Given the description of an element on the screen output the (x, y) to click on. 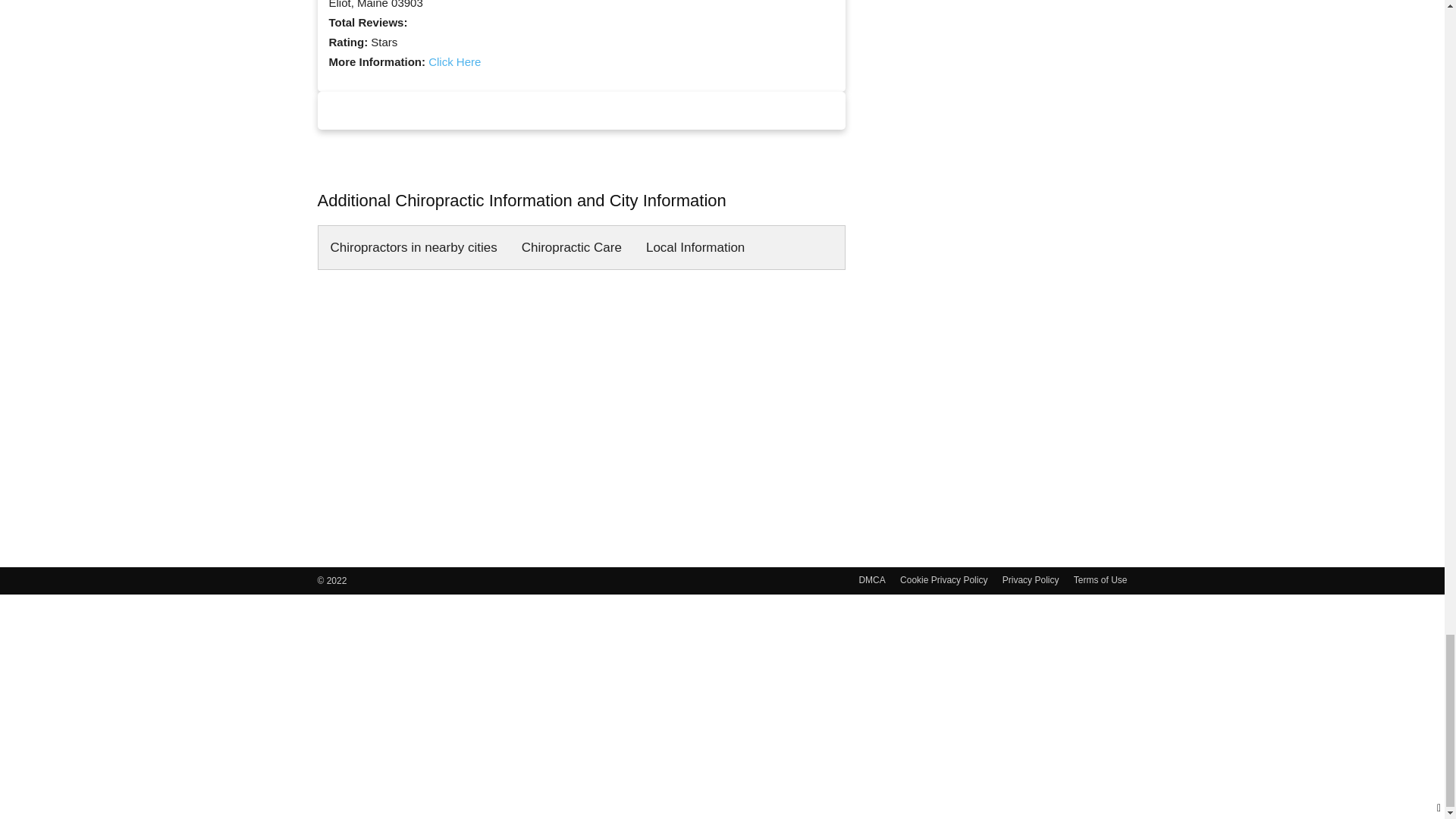
Local Information (695, 248)
Chiropractic Care (571, 248)
Chiropractors in nearby cities (413, 248)
Click Here (454, 61)
